Given the description of an element on the screen output the (x, y) to click on. 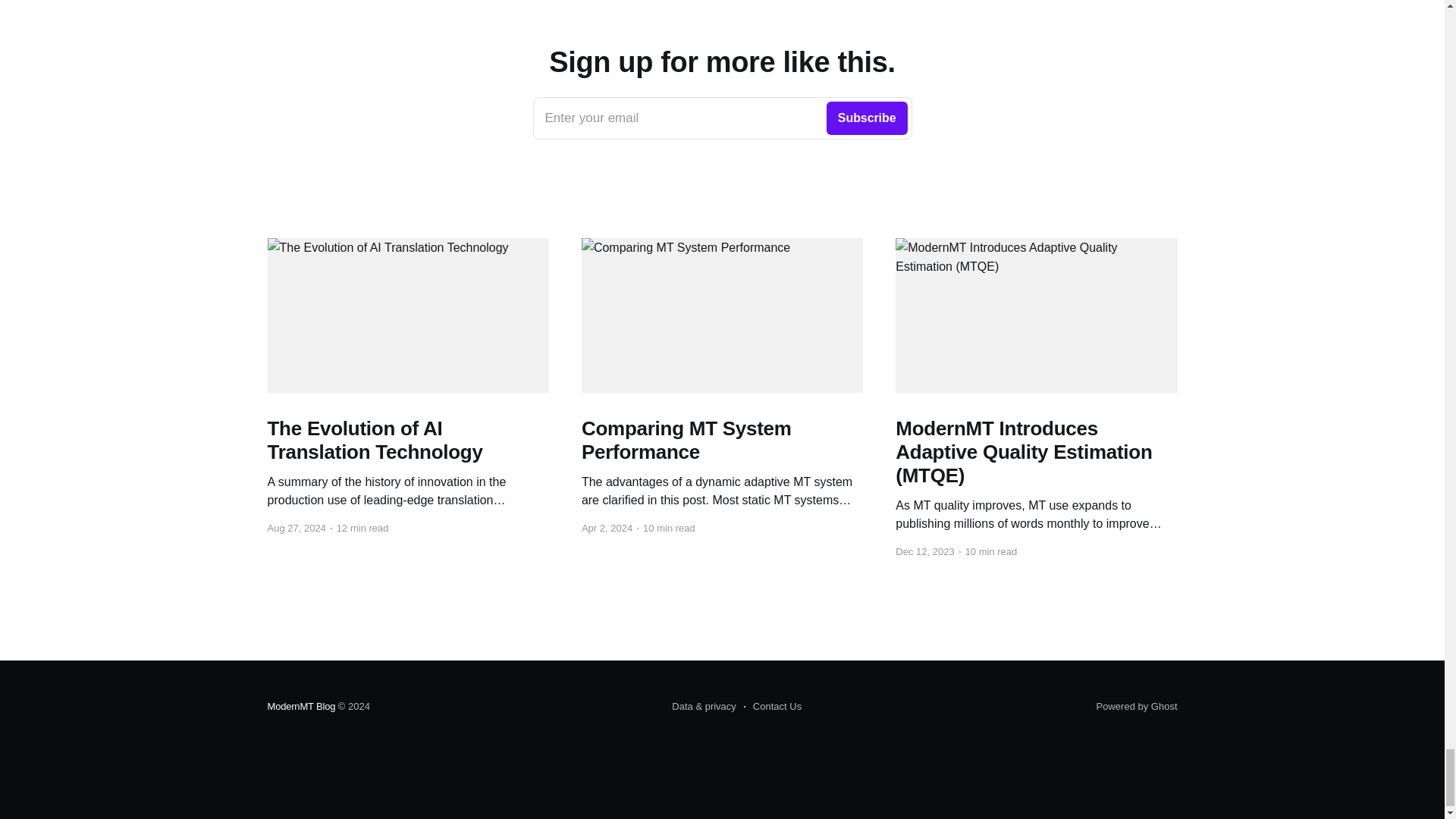
ModernMT Blog (300, 706)
Contact Us (773, 706)
Powered by Ghost (1136, 706)
